Given the description of an element on the screen output the (x, y) to click on. 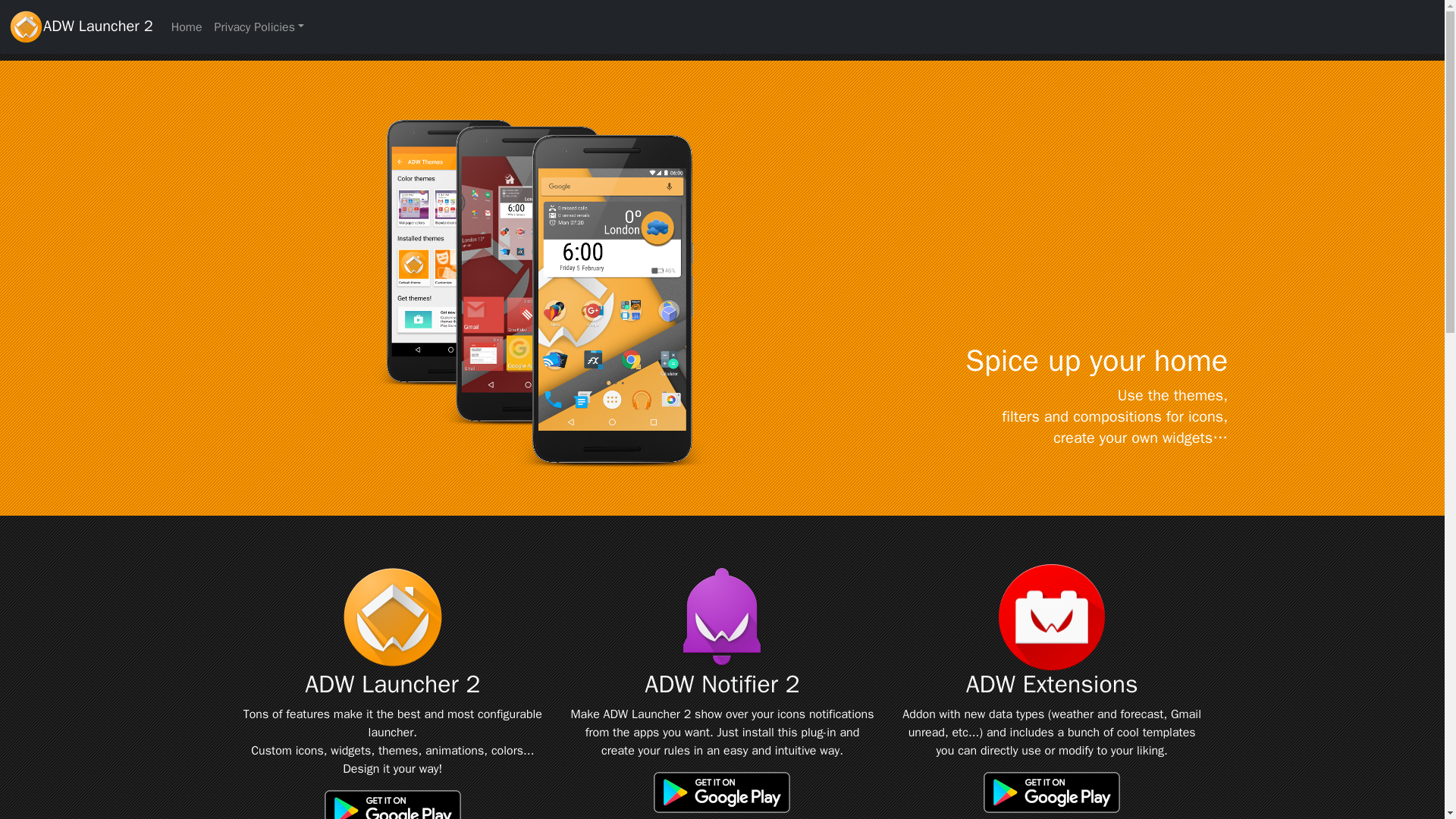
ADW Launcher 2 (80, 26)
Home (186, 27)
Privacy Policies (259, 27)
